Given the description of an element on the screen output the (x, y) to click on. 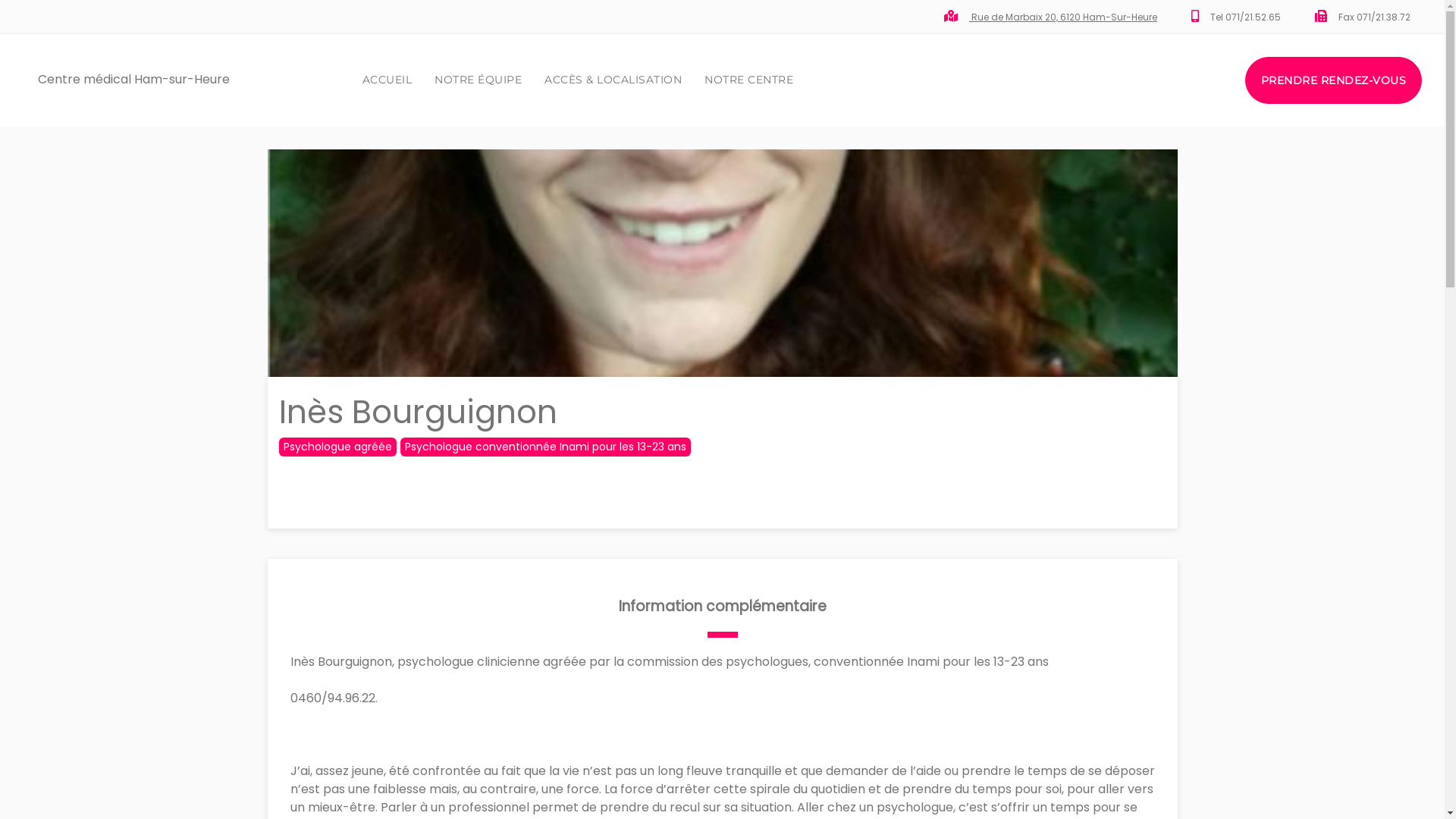
ACCUEIL Element type: text (387, 79)
Rue de Marbaix 20, 6120 Ham-Sur-Heure Element type: text (1063, 16)
NOTRE CENTRE Element type: text (748, 79)
PRENDRE RENDEZ-VOUS Element type: text (1332, 80)
